Given the description of an element on the screen output the (x, y) to click on. 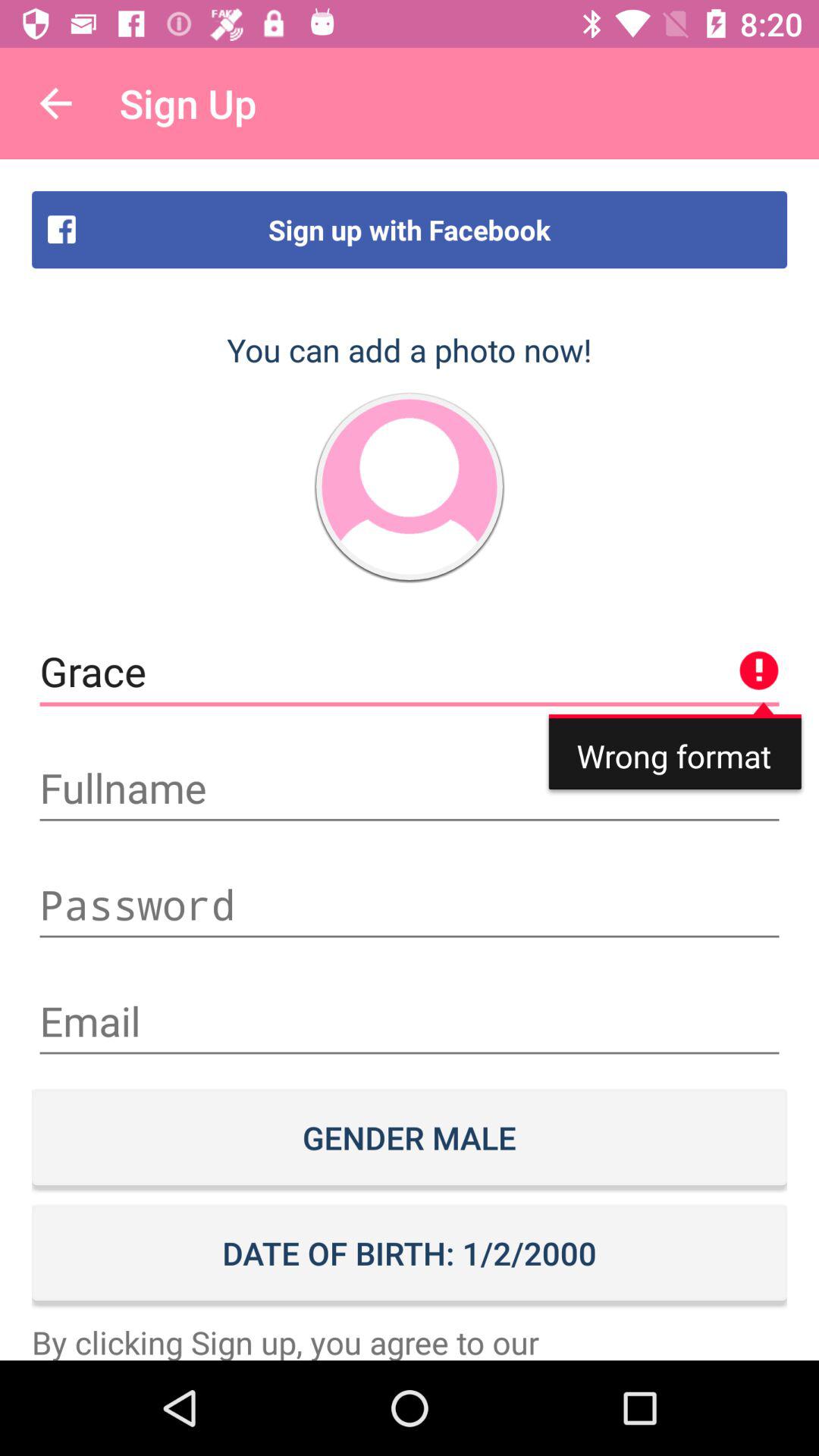
password (409, 904)
